Given the description of an element on the screen output the (x, y) to click on. 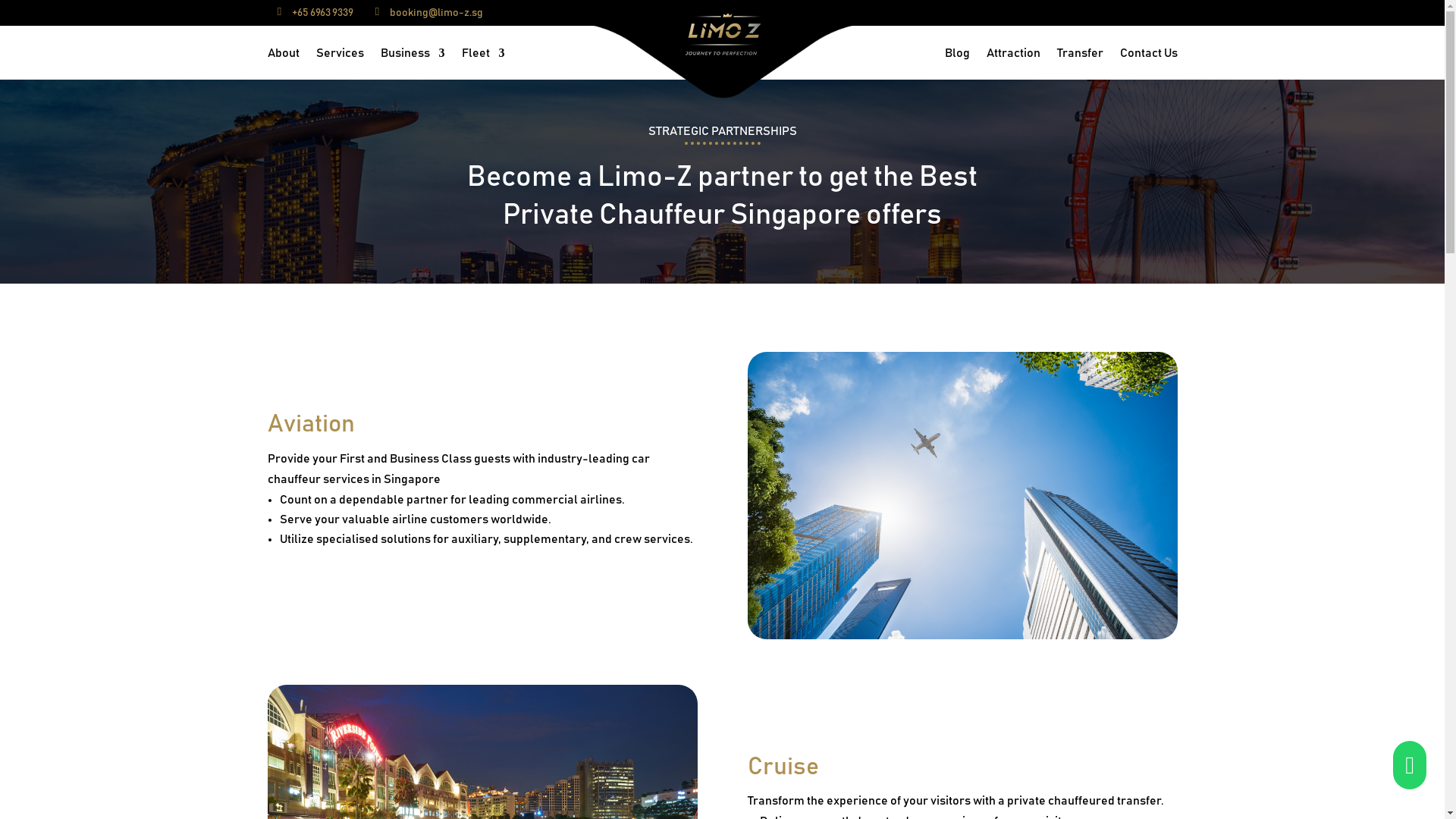
airplane-flying-skyscrapers (962, 495)
landscape-amazing-landmark-lights-buildings (481, 751)
About (282, 55)
Services (338, 55)
Business (412, 55)
